Given the description of an element on the screen output the (x, y) to click on. 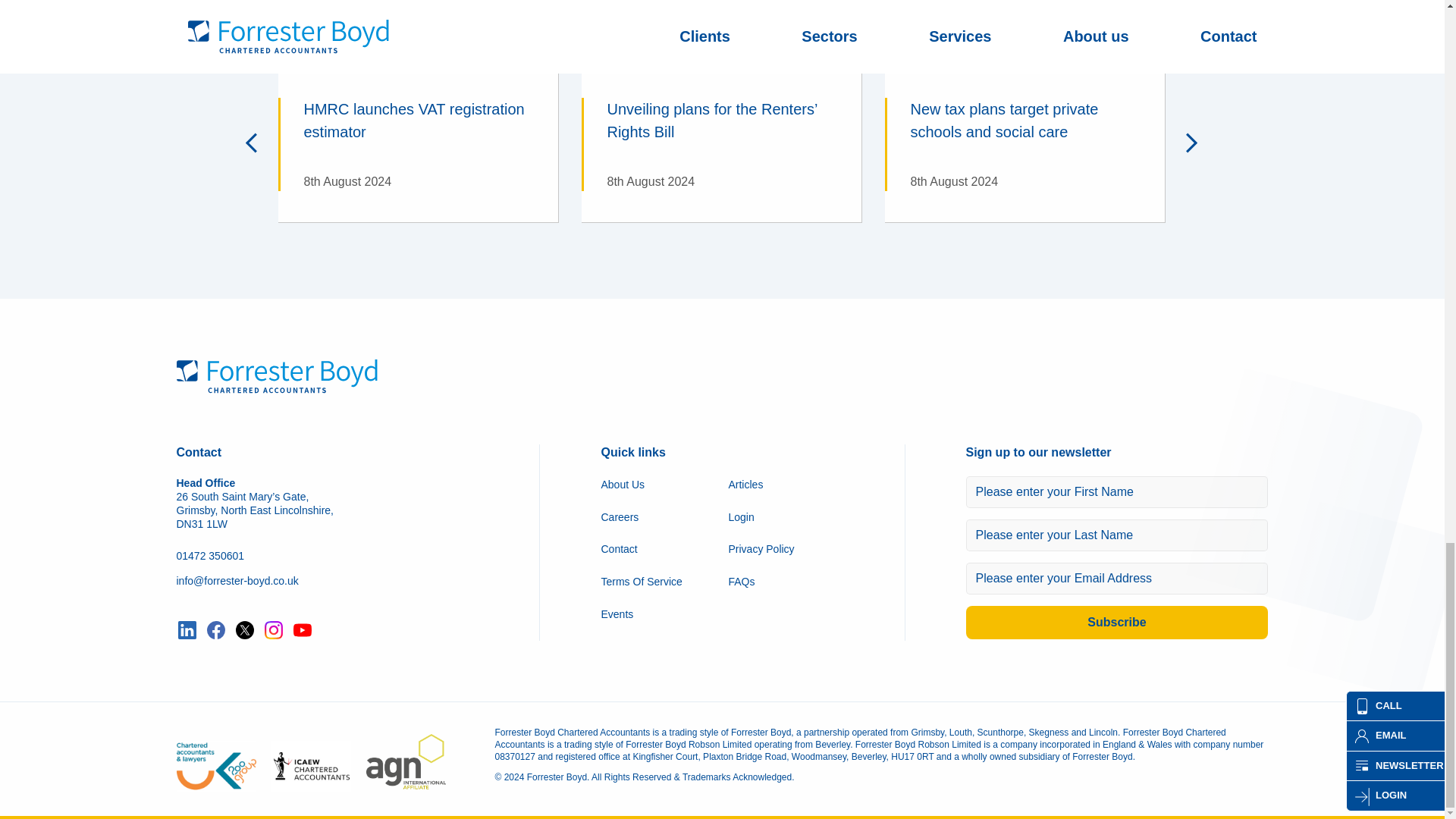
HMRC launches VAT registration estimator (417, 143)
Subscribe (1117, 622)
New tax plans target private schools and social care (1024, 143)
